Given the description of an element on the screen output the (x, y) to click on. 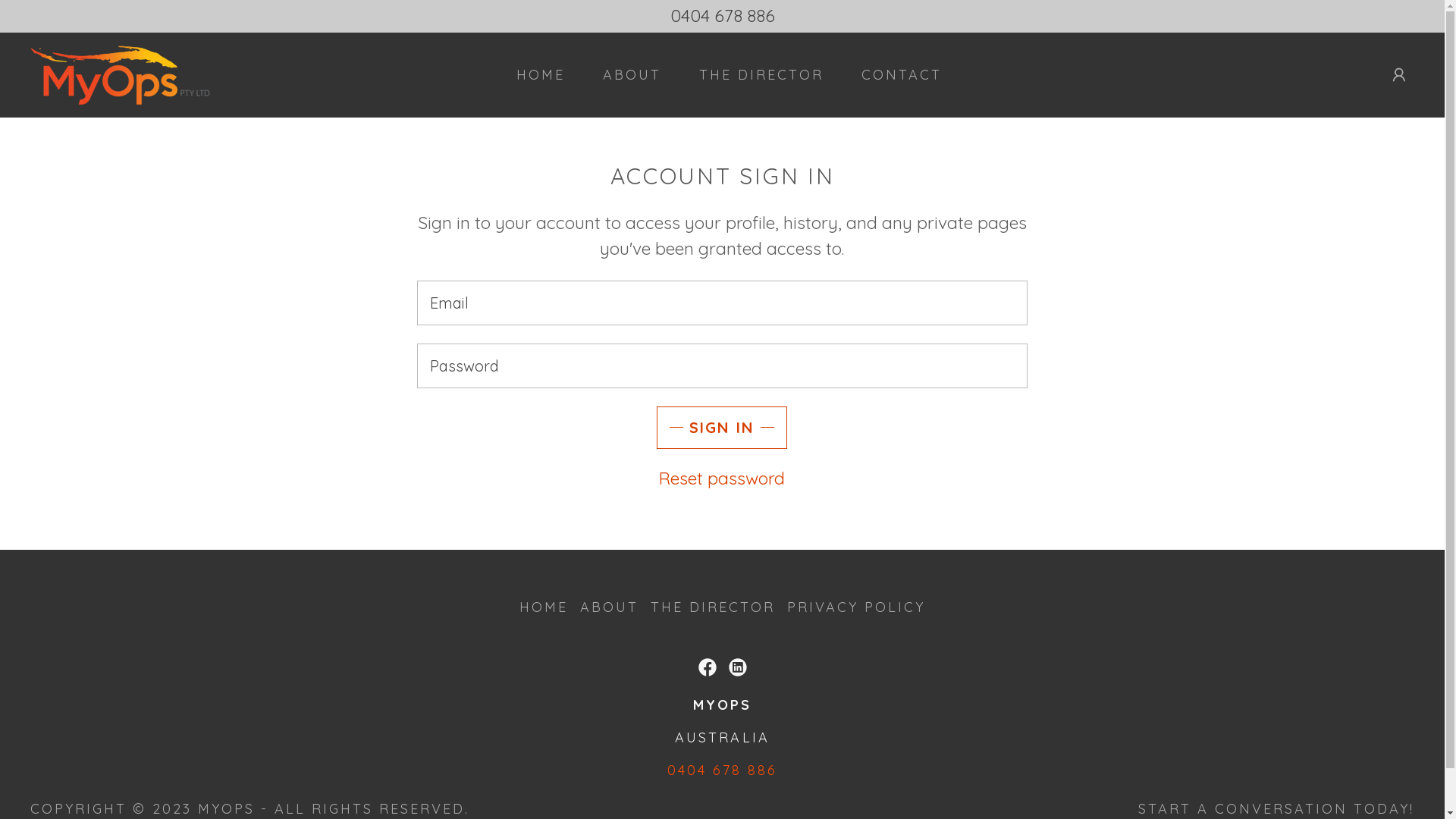
Reset password Element type: text (721, 478)
HOME Element type: text (533, 73)
ABOUT Element type: text (624, 73)
THE DIRECTOR Element type: text (712, 606)
PRIVACY POLICY Element type: text (856, 606)
CONTACT Element type: text (894, 73)
0404 678 886 Element type: text (722, 16)
THE DIRECTOR Element type: text (754, 73)
0404 678 886 Element type: text (722, 769)
MyOps.com.au Element type: hover (120, 72)
SIGN IN Element type: text (721, 427)
HOME Element type: text (543, 606)
ABOUT Element type: text (609, 606)
